Given the description of an element on the screen output the (x, y) to click on. 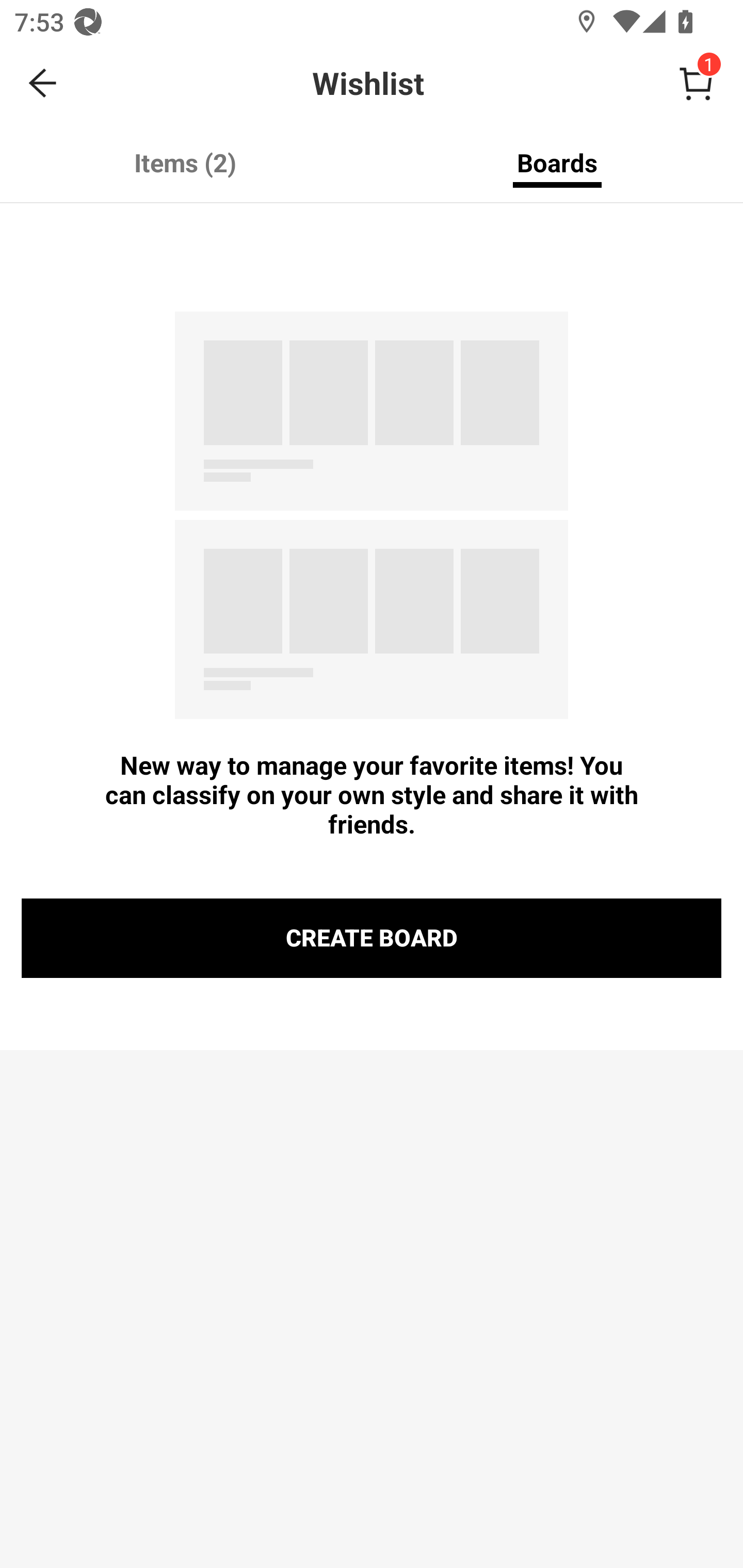
Wishlist 1 (414, 82)
1 (695, 82)
BACK (43, 83)
Items (2) (185, 162)
Boards (557, 162)
CREATE BOARD (371, 938)
